Given the description of an element on the screen output the (x, y) to click on. 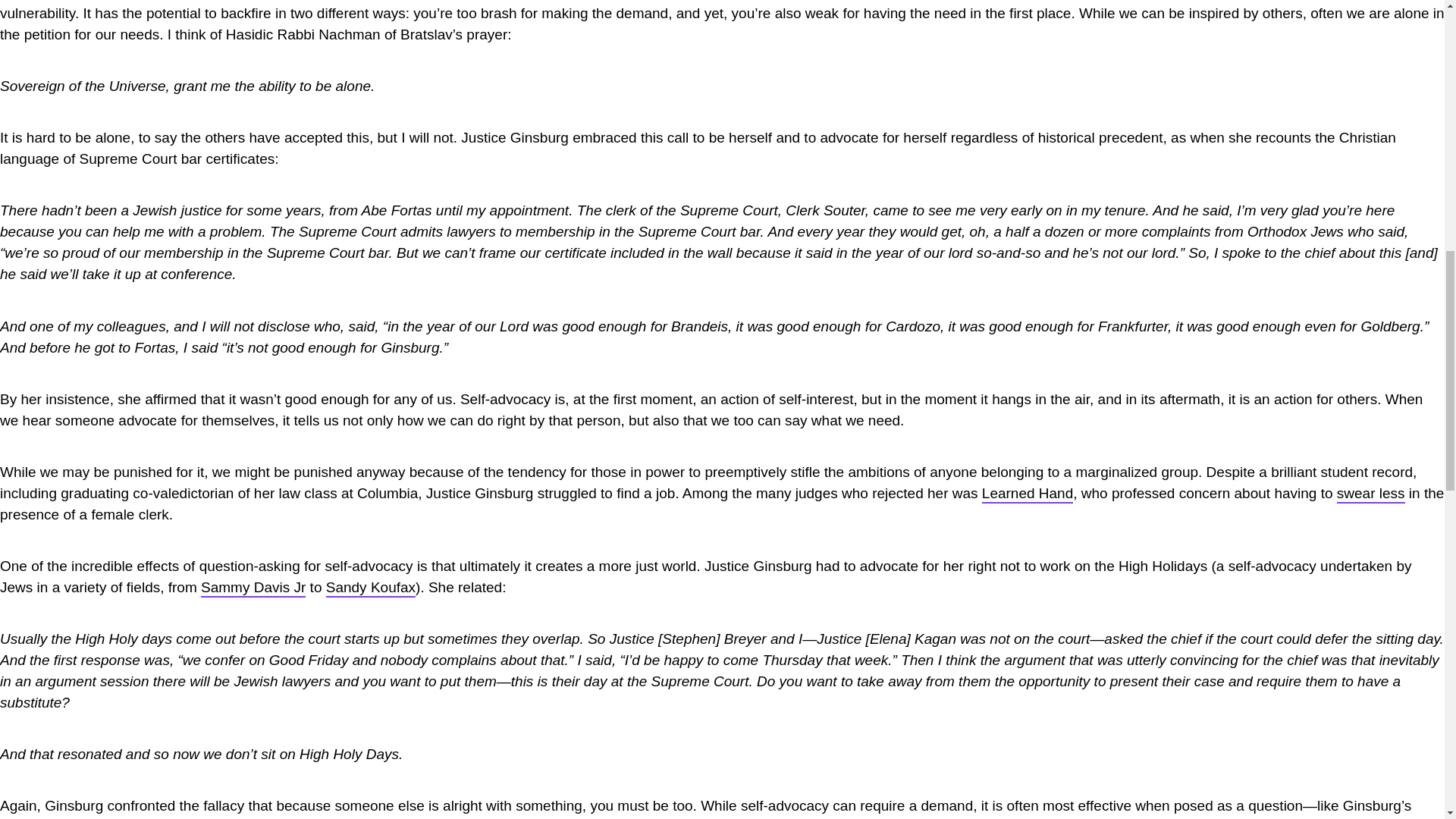
swear less (1370, 494)
Learned Hand (1027, 494)
